Given the description of an element on the screen output the (x, y) to click on. 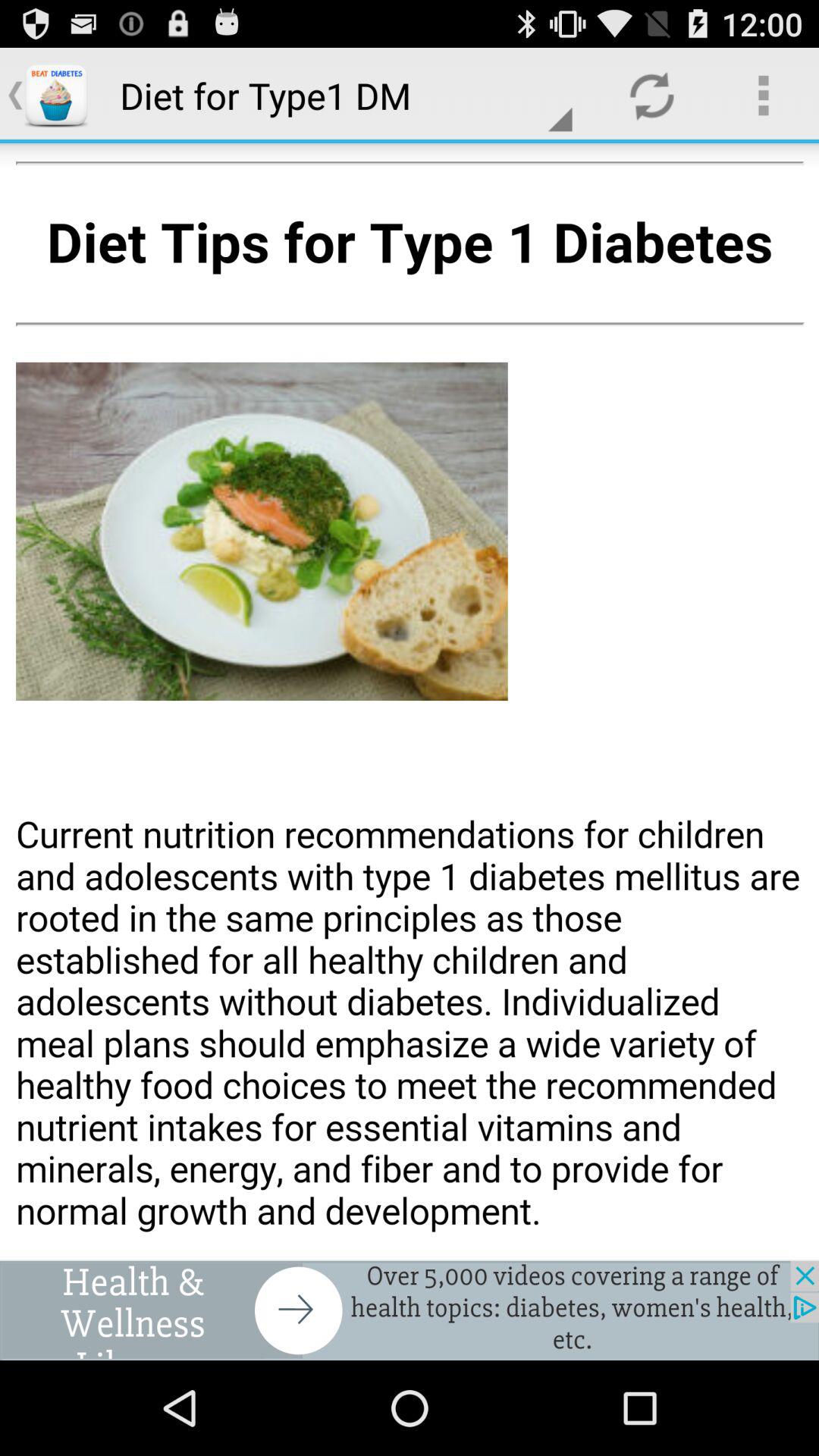
advertisement (409, 1310)
